Given the description of an element on the screen output the (x, y) to click on. 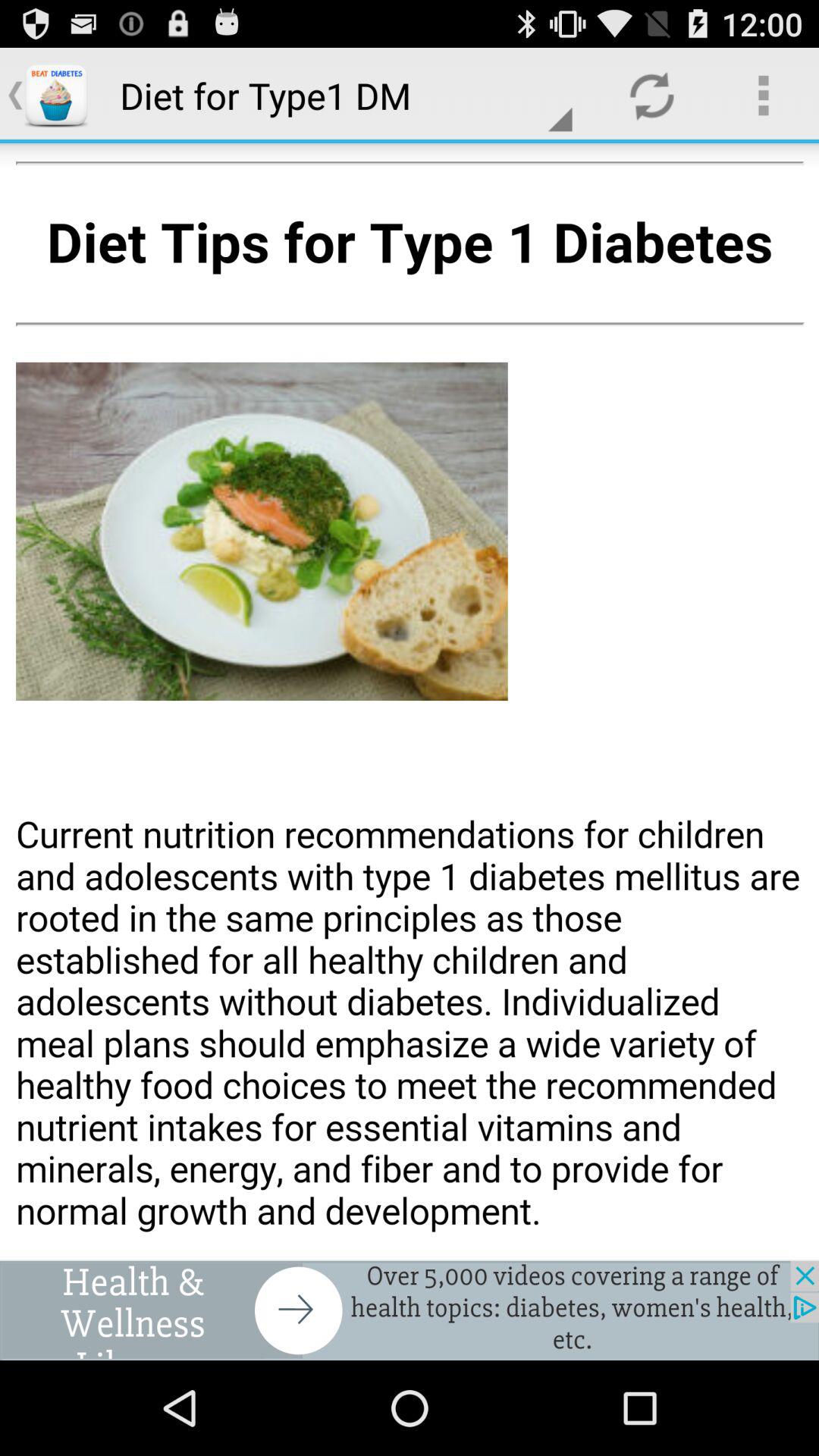
advertisement (409, 1310)
